Given the description of an element on the screen output the (x, y) to click on. 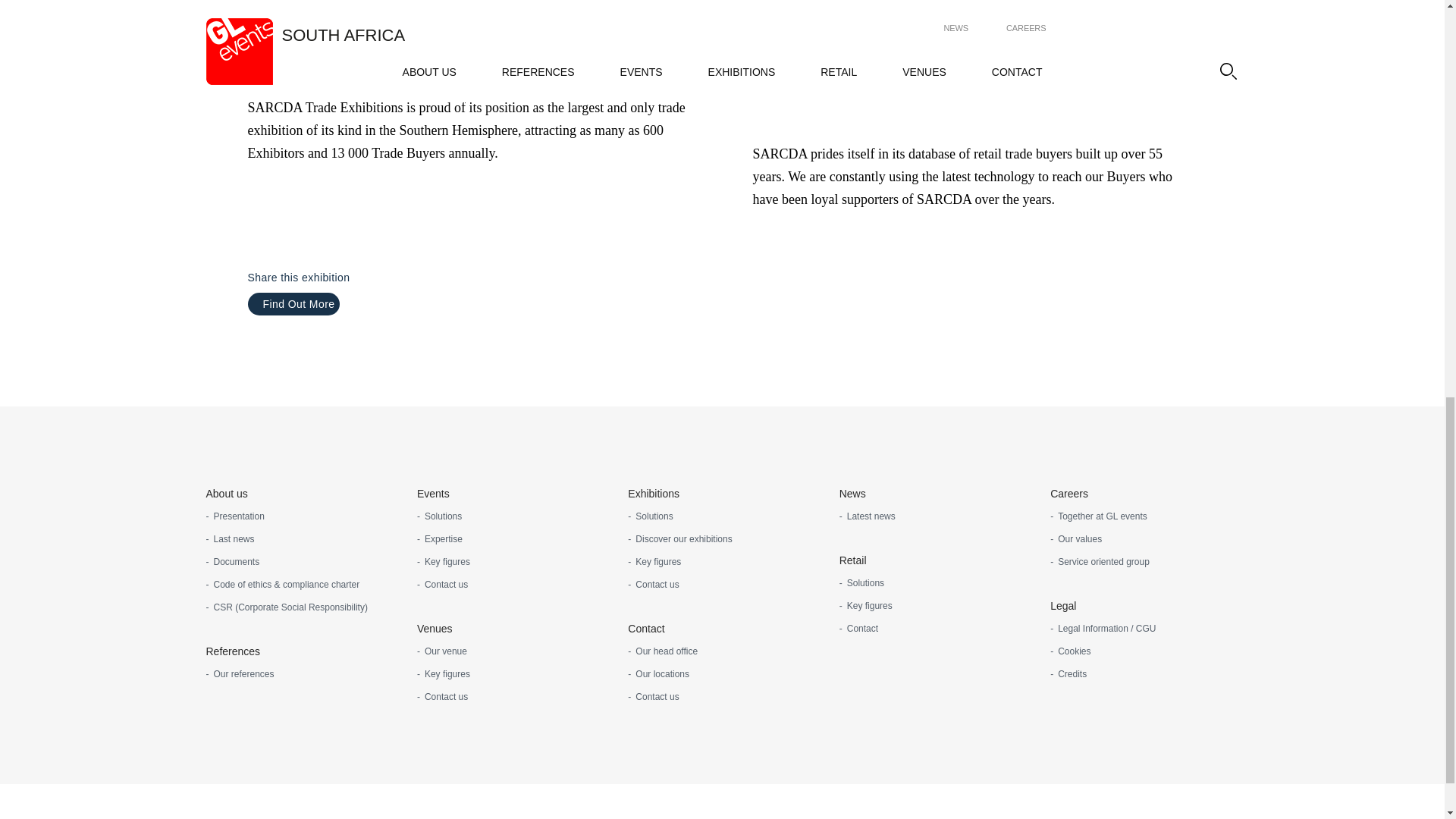
Find Out More (293, 303)
Contact us (441, 584)
Our references (240, 673)
Last news (230, 539)
Expertise (439, 539)
Presentation (235, 516)
Share this exhibition (301, 277)
Key figures (443, 561)
Documents (233, 561)
Solutions (438, 516)
